Given the description of an element on the screen output the (x, y) to click on. 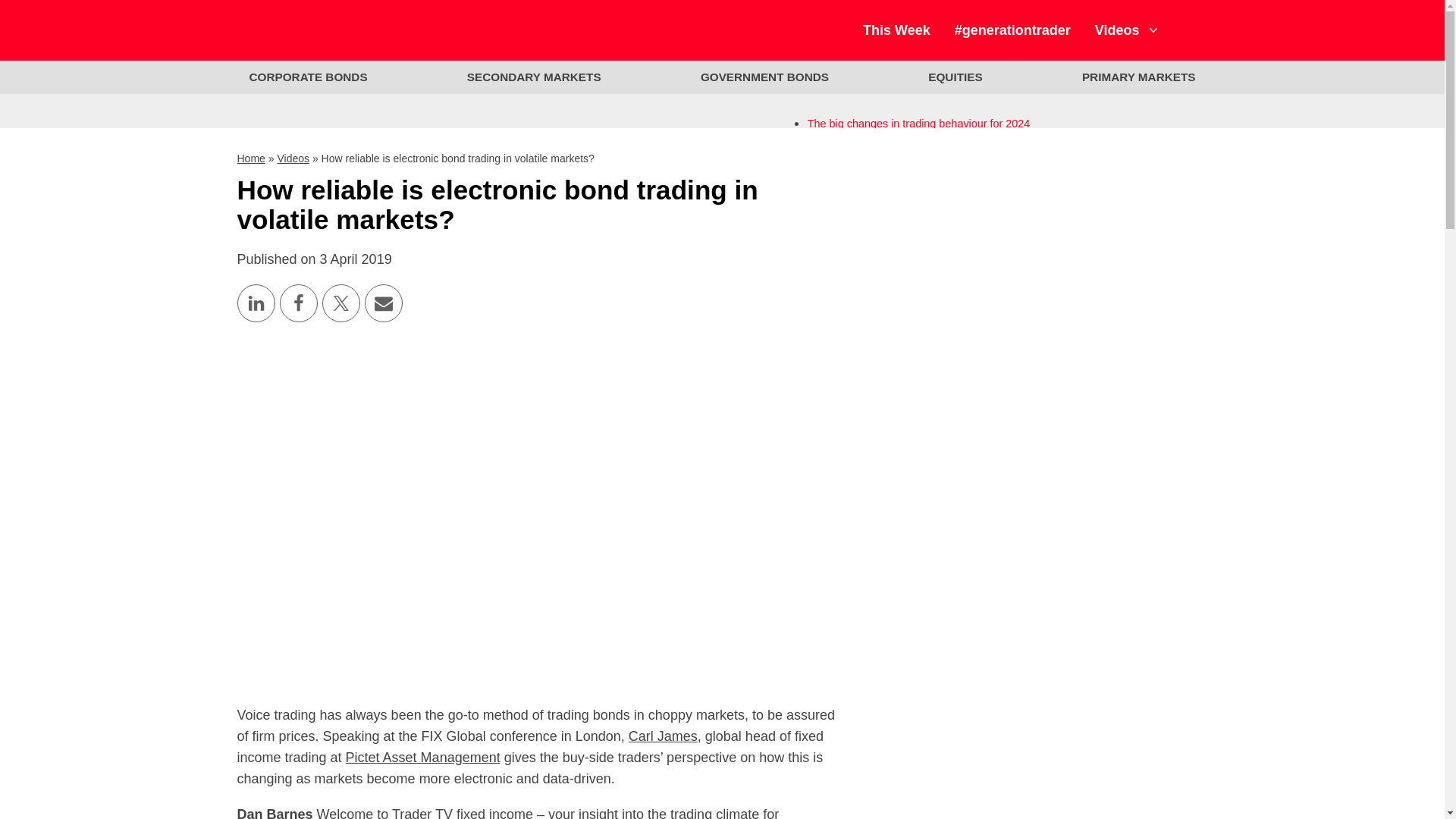
Share on LinkedIn (255, 303)
Search (1190, 29)
GOVERNMENT BONDS (764, 77)
PRIMARY MARKETS (1139, 77)
CORPORATE BONDS (306, 77)
Videos (1122, 30)
Pictet Asset Management (423, 757)
Carl James (662, 735)
The big changes in trading behaviour for 2024 (919, 123)
Share on Facebook (298, 303)
Share on Twitter (340, 303)
SECONDARY MARKETS (533, 77)
Videos (292, 158)
EQUITIES (954, 77)
